Given the description of an element on the screen output the (x, y) to click on. 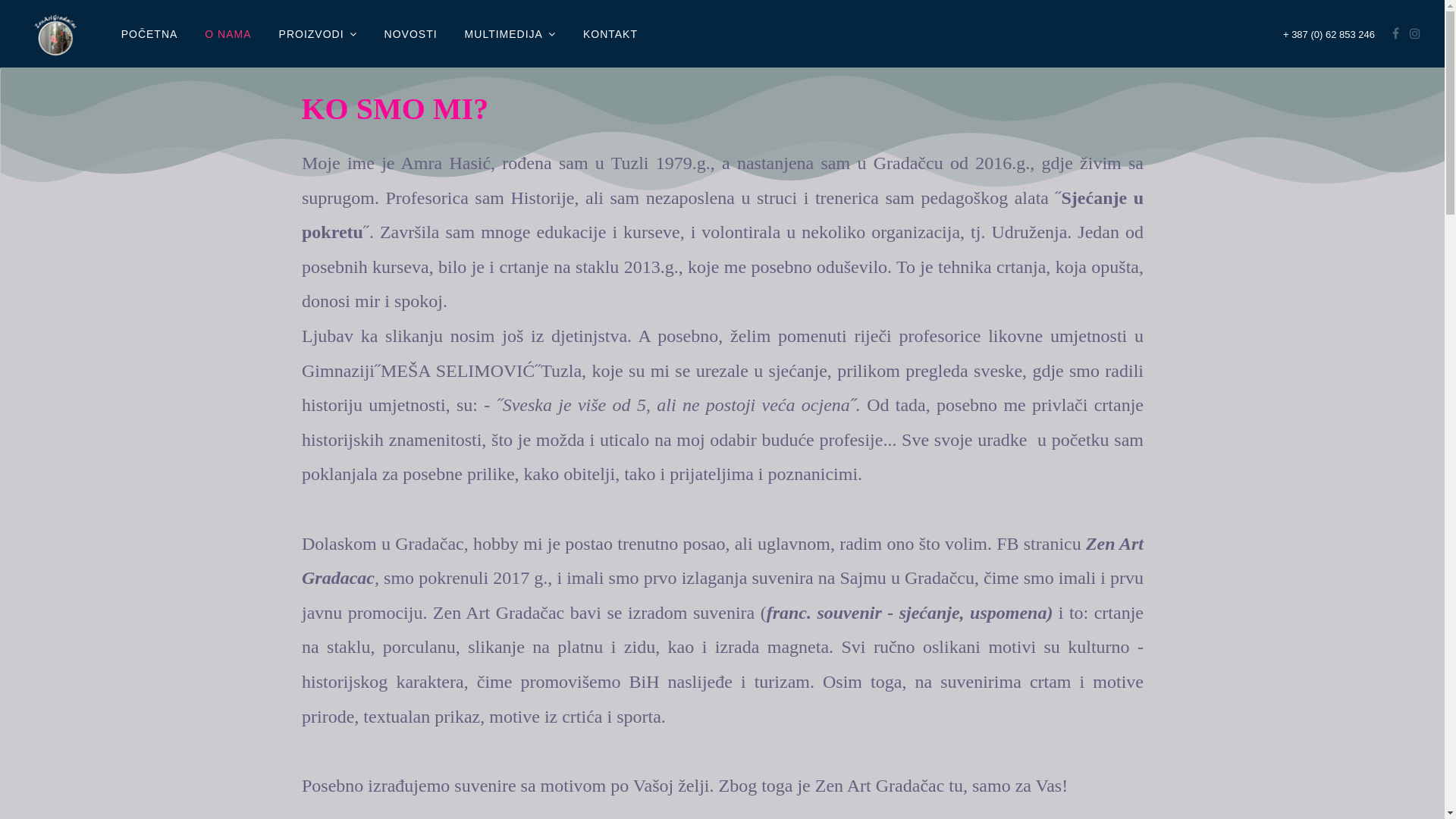
+ 387 (0) 62 853 246 Element type: text (1328, 34)
O NAMA Element type: text (227, 34)
KONTAKT Element type: text (610, 34)
NOVOSTI Element type: text (410, 34)
PROIZVODI Element type: text (317, 34)
MULTIMEDIJA Element type: text (510, 34)
